Given the description of an element on the screen output the (x, y) to click on. 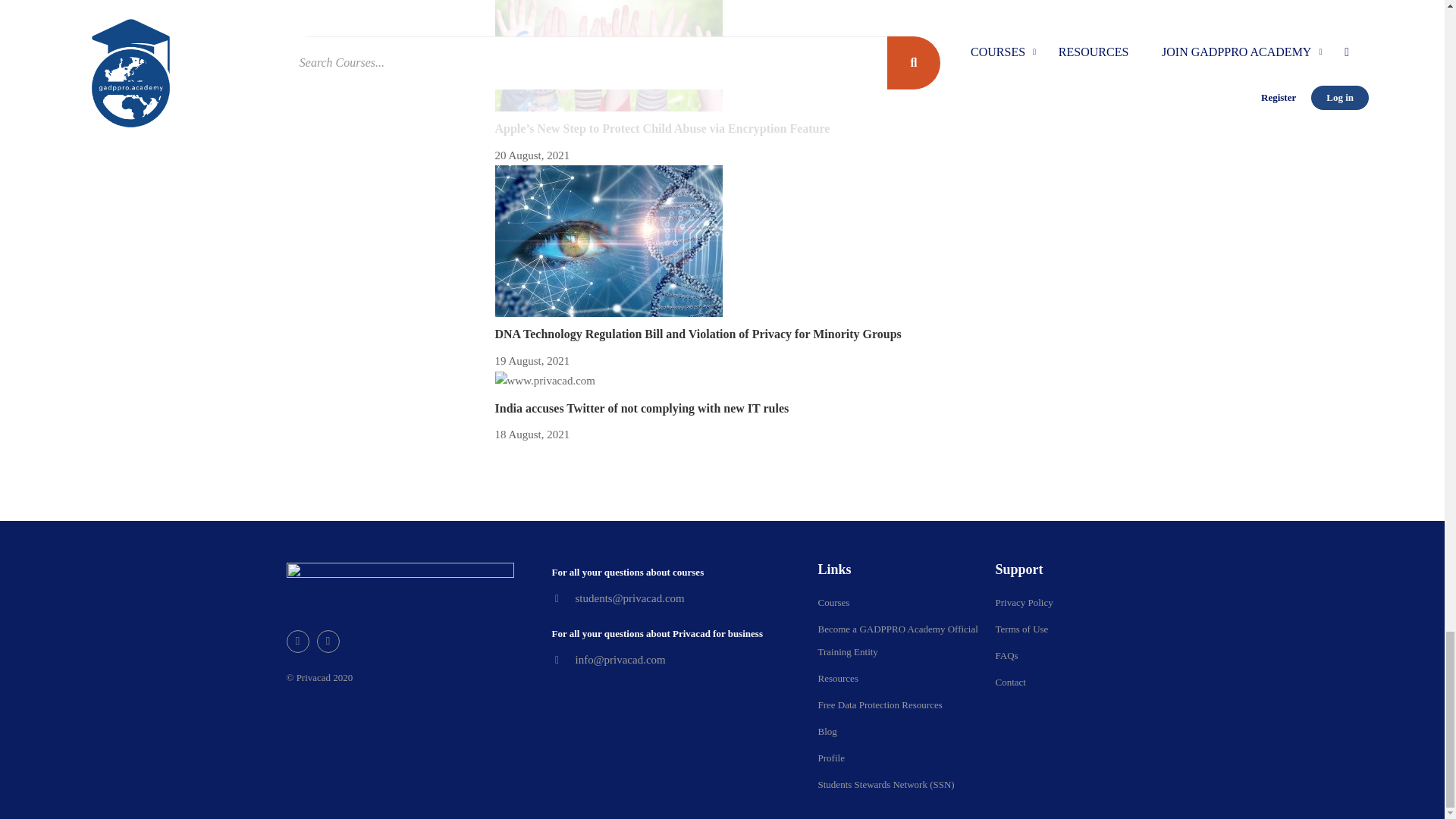
Children Safety Encryption www.privacad.com (608, 55)
DNA Technology and Privacy www.privacad.com (608, 240)
www.privacad.com (544, 381)
India accuses Twitter of not complying with new IT rules (642, 408)
